Given the description of an element on the screen output the (x, y) to click on. 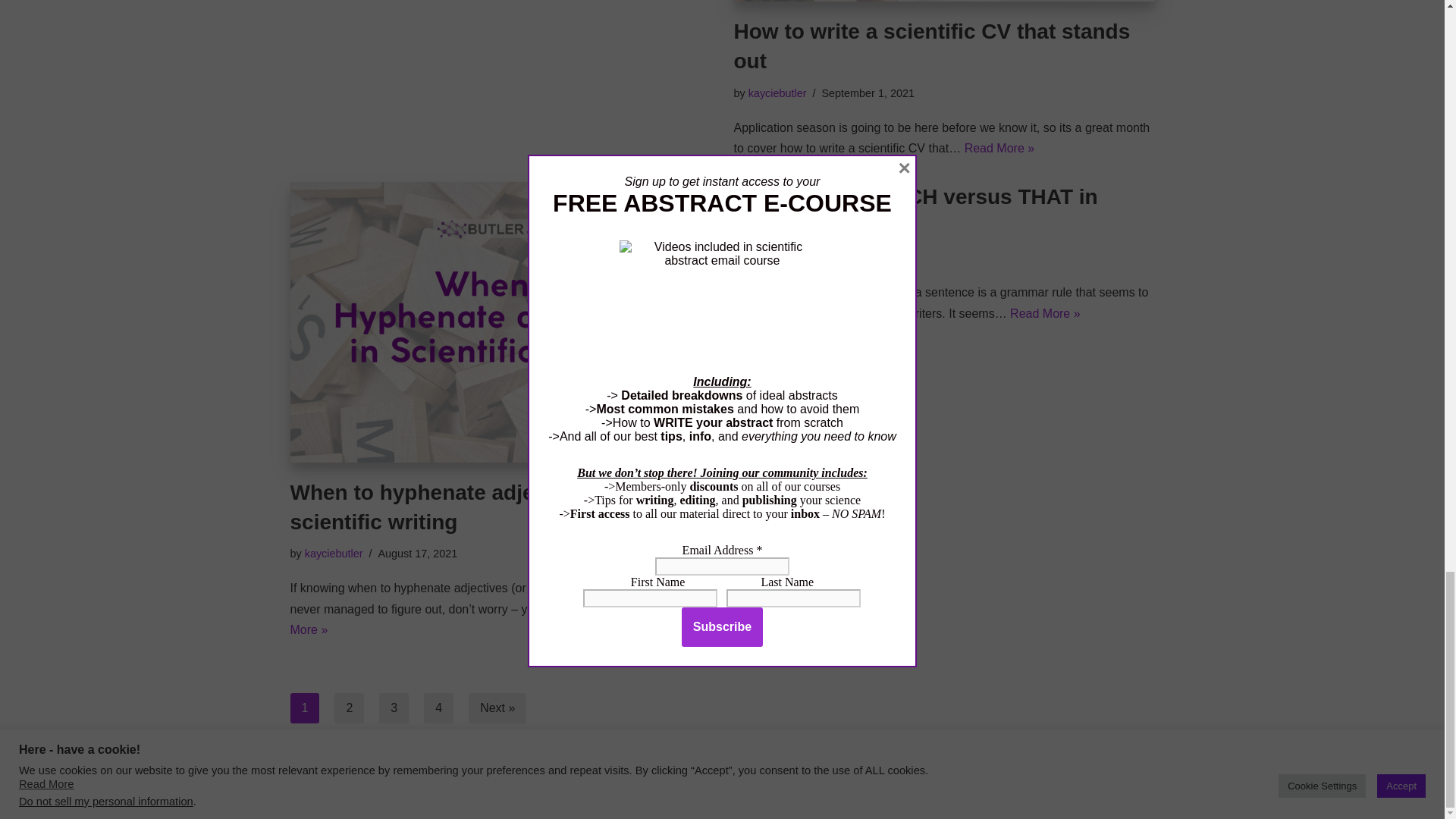
Posts by kayciebutler (777, 92)
